Given the description of an element on the screen output the (x, y) to click on. 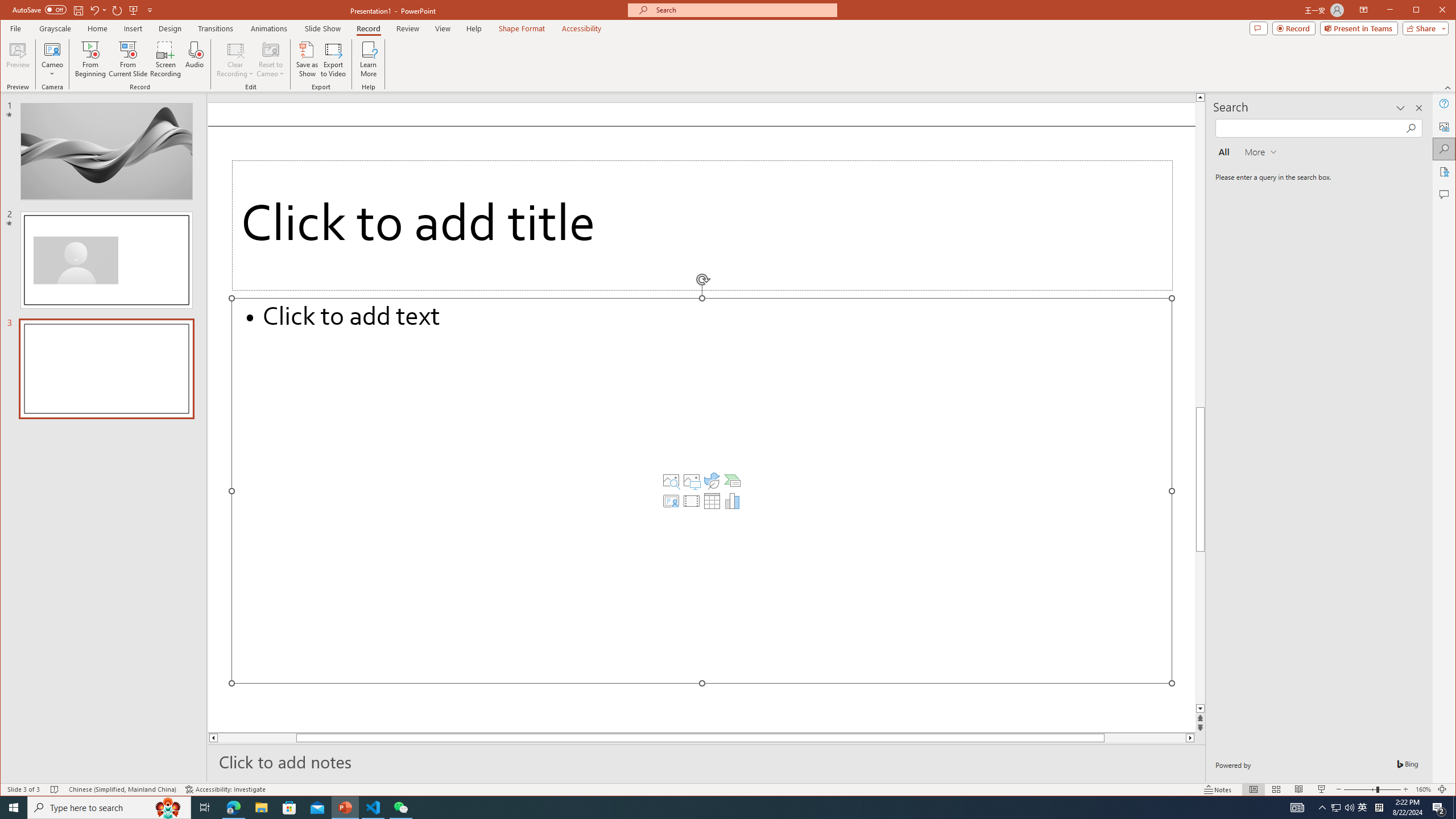
Cameo (52, 59)
Show desktop (1454, 807)
Type here to search (1362, 807)
Insert Table (108, 807)
Tray Input Indicator - Chinese (Simplified, China) (711, 501)
Action Center, 2 new notifications (1378, 807)
Slide (1439, 807)
